Given the description of an element on the screen output the (x, y) to click on. 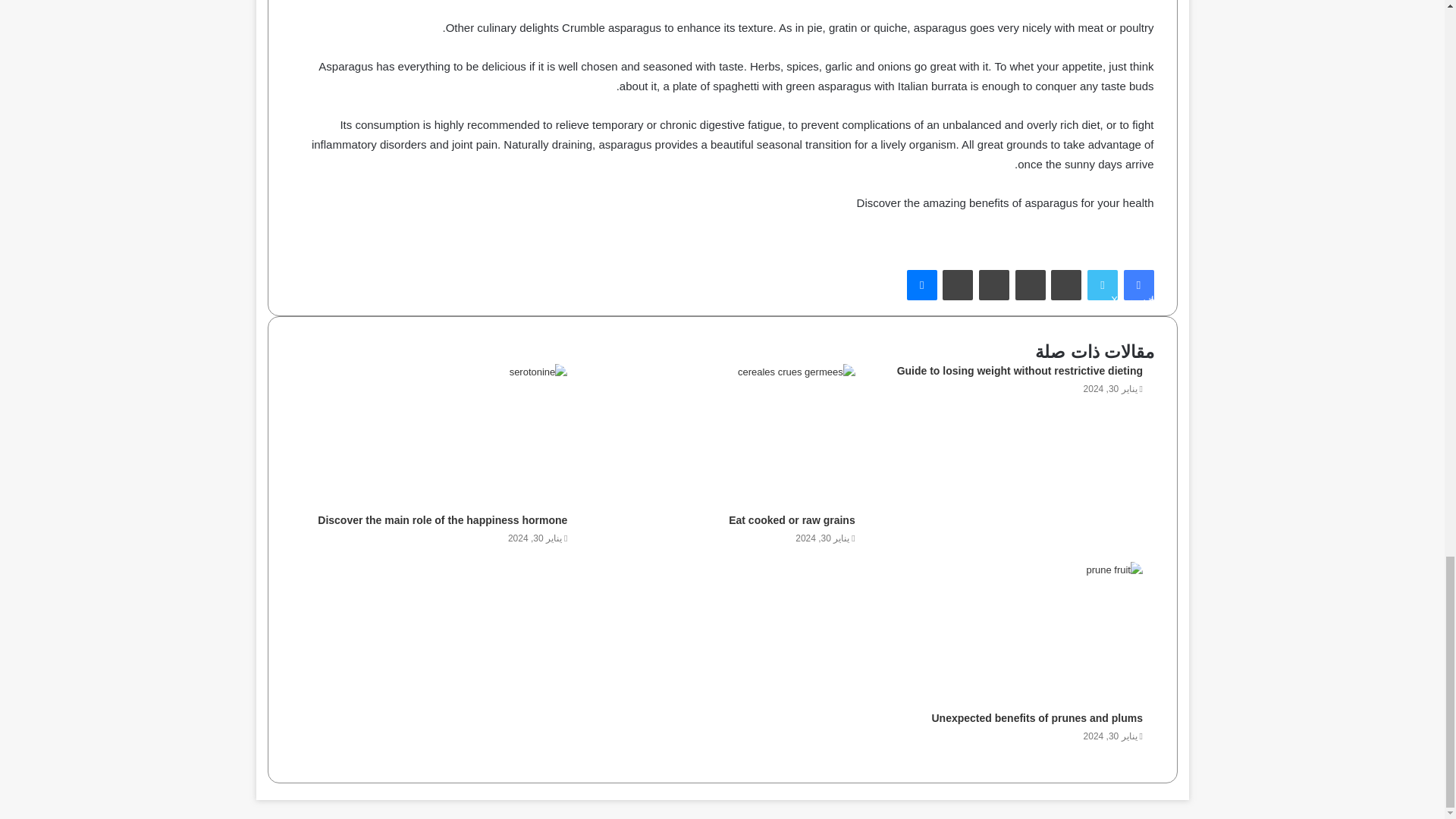
Tumblr (1029, 285)
Reddit (957, 285)
Eat cooked or raw grains (792, 521)
Unexpected benefits of prunes and plums (1036, 718)
X (1102, 285)
X (1102, 285)
Discover the main role of the happiness hormone (442, 521)
Guide to losing weight without restrictive dieting (1018, 371)
